Given the description of an element on the screen output the (x, y) to click on. 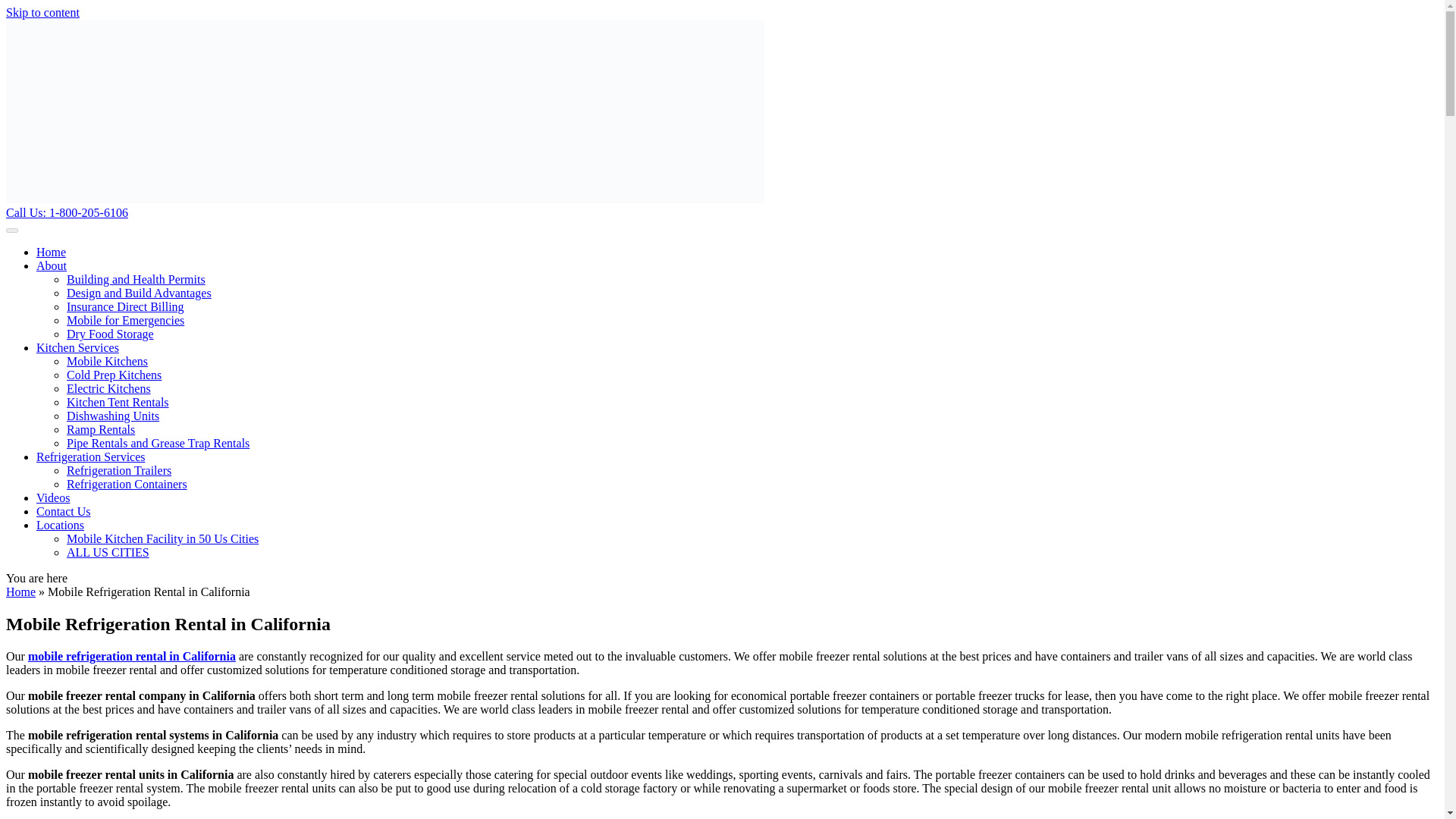
ALL US CITIES (107, 552)
Design and Build Advantages (138, 292)
Contact Us (63, 511)
Home (50, 251)
Videos (52, 497)
Mobile Kitchens (107, 360)
Mobile for Emergencies (125, 319)
Home (19, 591)
Cold Prep Kitchens (113, 374)
mobile refrigeration rental in California (131, 656)
Electric Kitchens (108, 388)
Ramp Rentals (100, 429)
Kitchen Services (77, 347)
Locations (60, 524)
Dishwashing Units (112, 415)
